Given the description of an element on the screen output the (x, y) to click on. 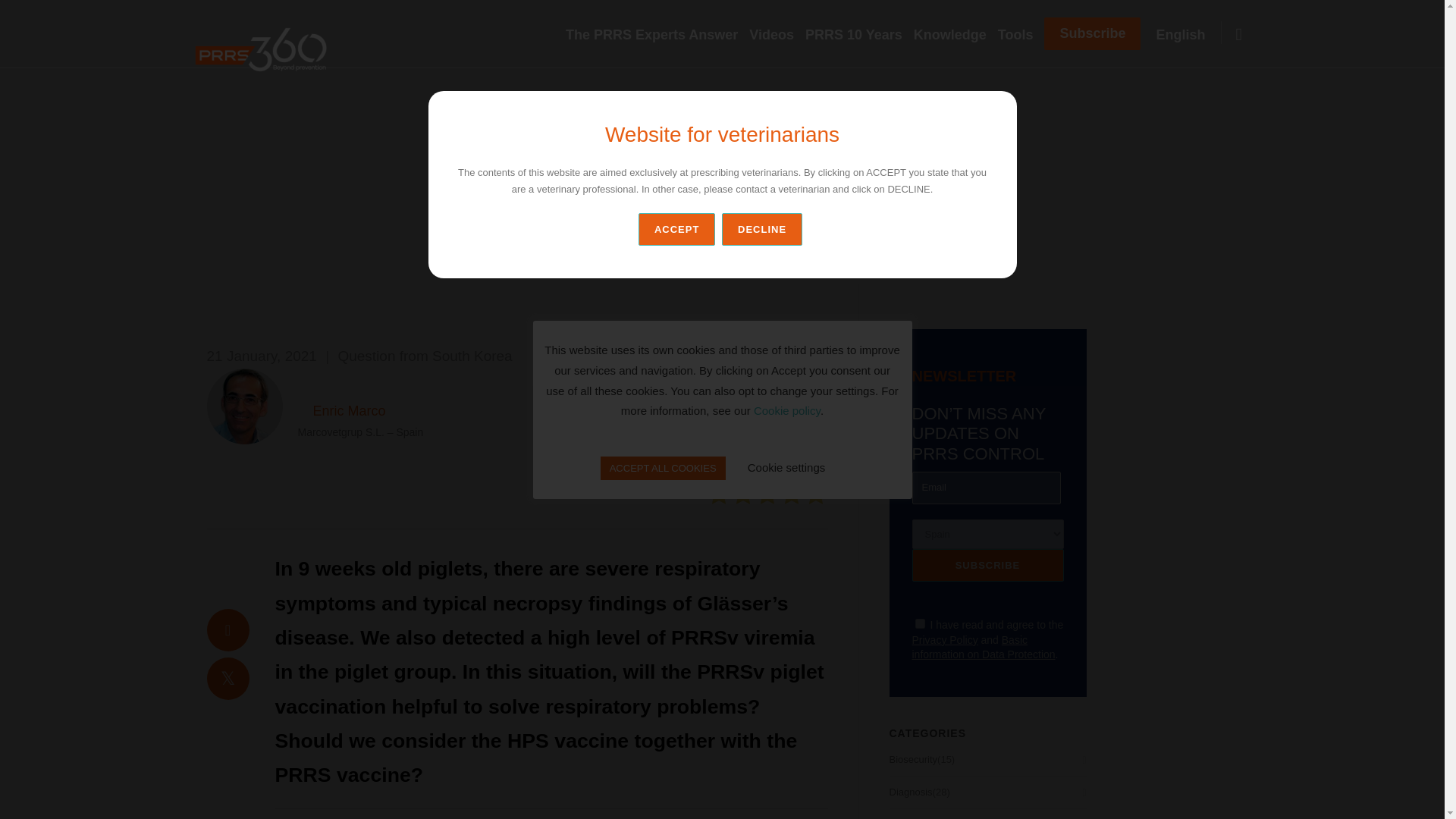
Tools (1021, 35)
English (1185, 35)
Subscribe (986, 564)
DECLINE (764, 229)
English (1185, 35)
ACCEPT (676, 228)
The PRRS Experts Answer (657, 35)
Videos (777, 35)
PRRS 10 Years (859, 35)
Subscribe (1091, 33)
DECLINE (762, 228)
Knowledge (955, 35)
1 (919, 623)
